Given the description of an element on the screen output the (x, y) to click on. 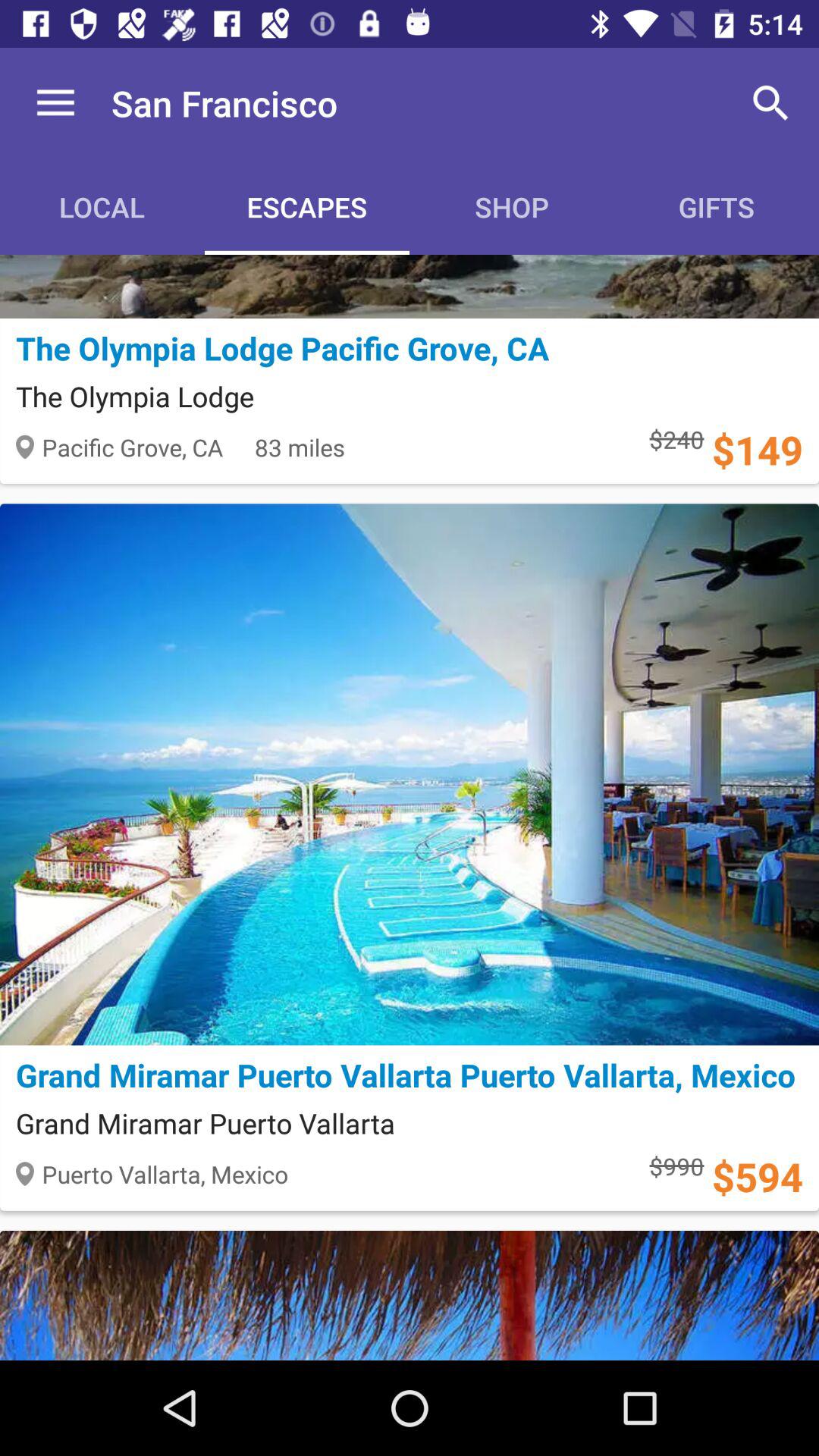
press item next to san francisco icon (55, 103)
